Given the description of an element on the screen output the (x, y) to click on. 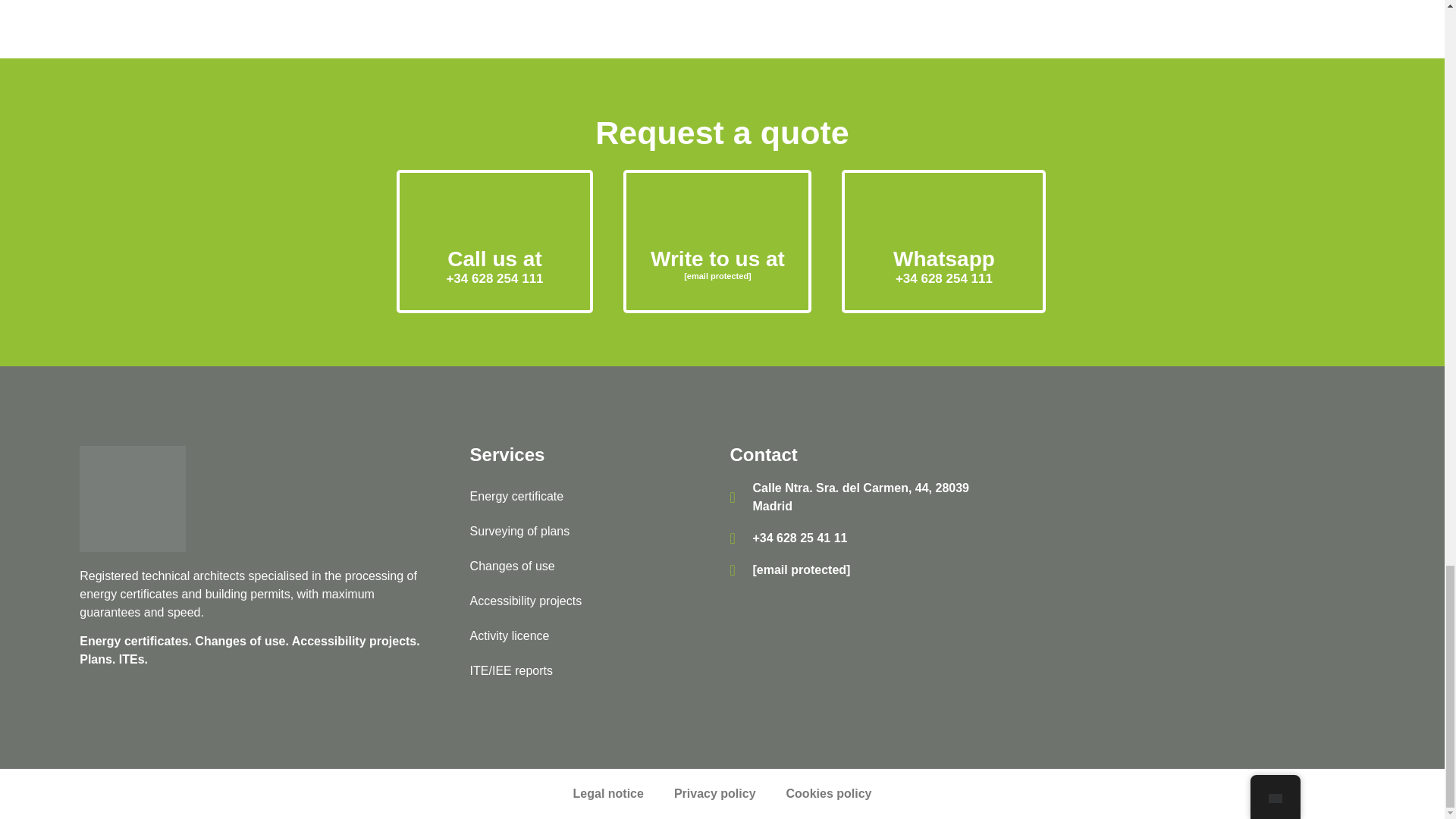
Activity licence (592, 636)
Surveying of plans (592, 531)
Call us at (493, 259)
Changes of use (592, 565)
Whatsapp (943, 259)
Accessibility projects (592, 601)
Write to us at (717, 259)
Energy certificate (592, 496)
